Given the description of an element on the screen output the (x, y) to click on. 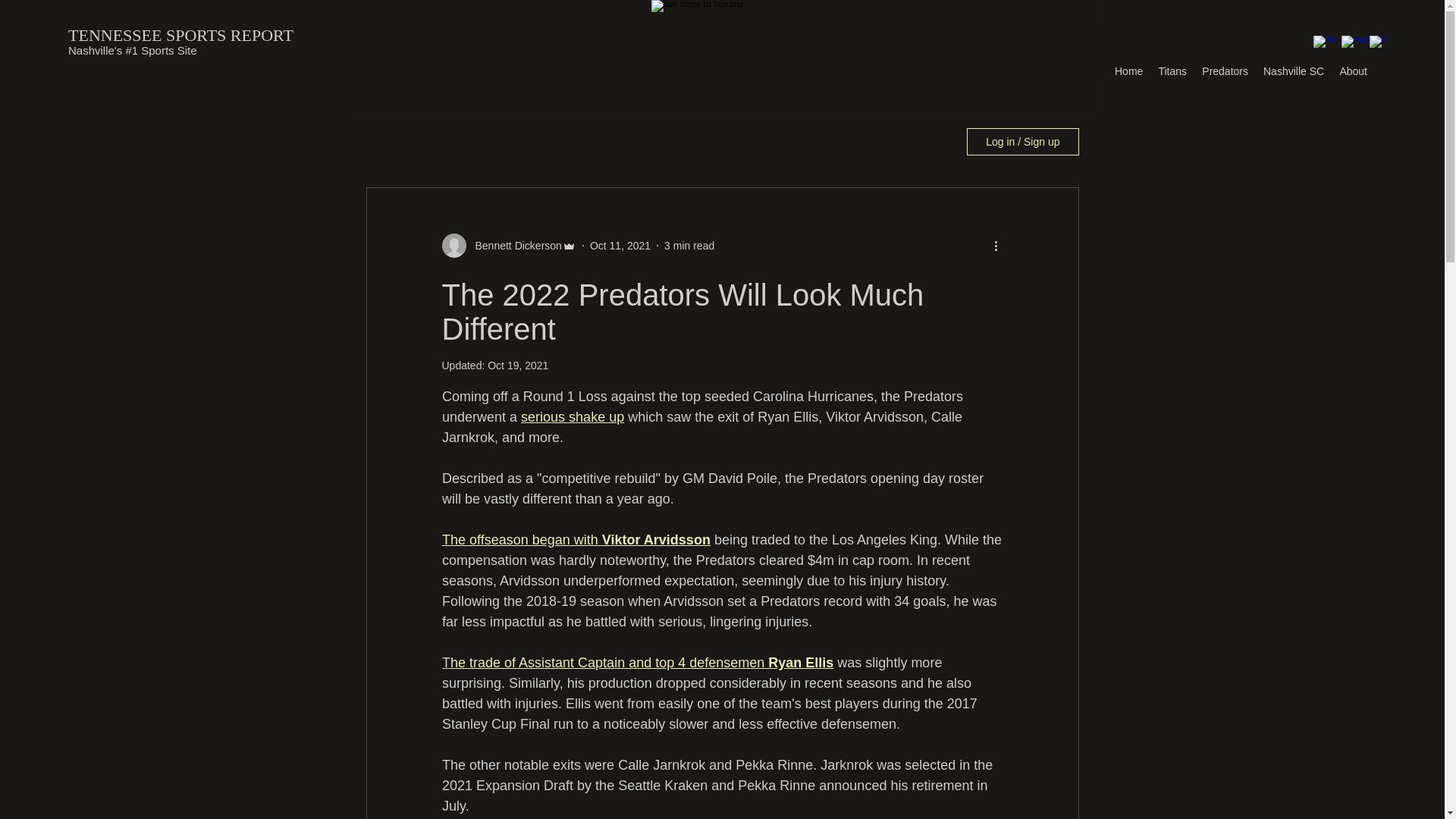
Oct 19, 2021 (517, 365)
Viktor Arvidsson (655, 539)
Predators (1224, 71)
TENNESSEE SPORTS REPORT (181, 35)
Home (1128, 71)
3 min read (688, 245)
Titans (1171, 71)
Ryan Ellis (800, 662)
Nashville SC (1293, 71)
The offseason began with  (521, 539)
